Given the description of an element on the screen output the (x, y) to click on. 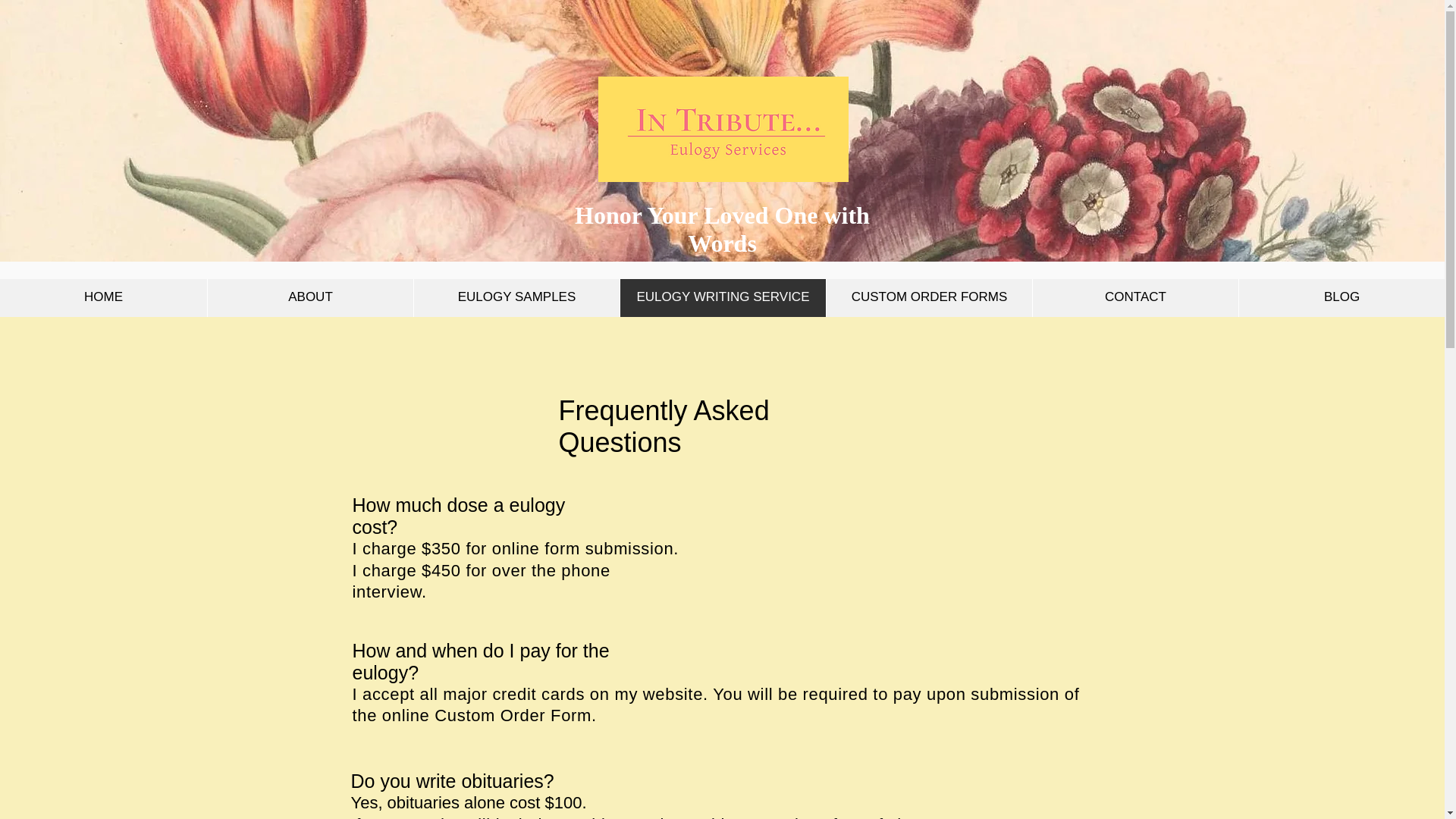
HOME (103, 299)
CUSTOM ORDER FORMS (928, 296)
CONTACT (1135, 296)
HOME (103, 296)
EULOGY WRITING SERVICE (722, 299)
EULOGY SAMPLES (516, 296)
EULOGY WRITING SERVICE (722, 296)
EULOGY SAMPLES (516, 299)
ABOUT (309, 296)
ABOUT (309, 299)
CUSTOM ORDER FORMS (928, 299)
CONTACT (1135, 299)
